Given the description of an element on the screen output the (x, y) to click on. 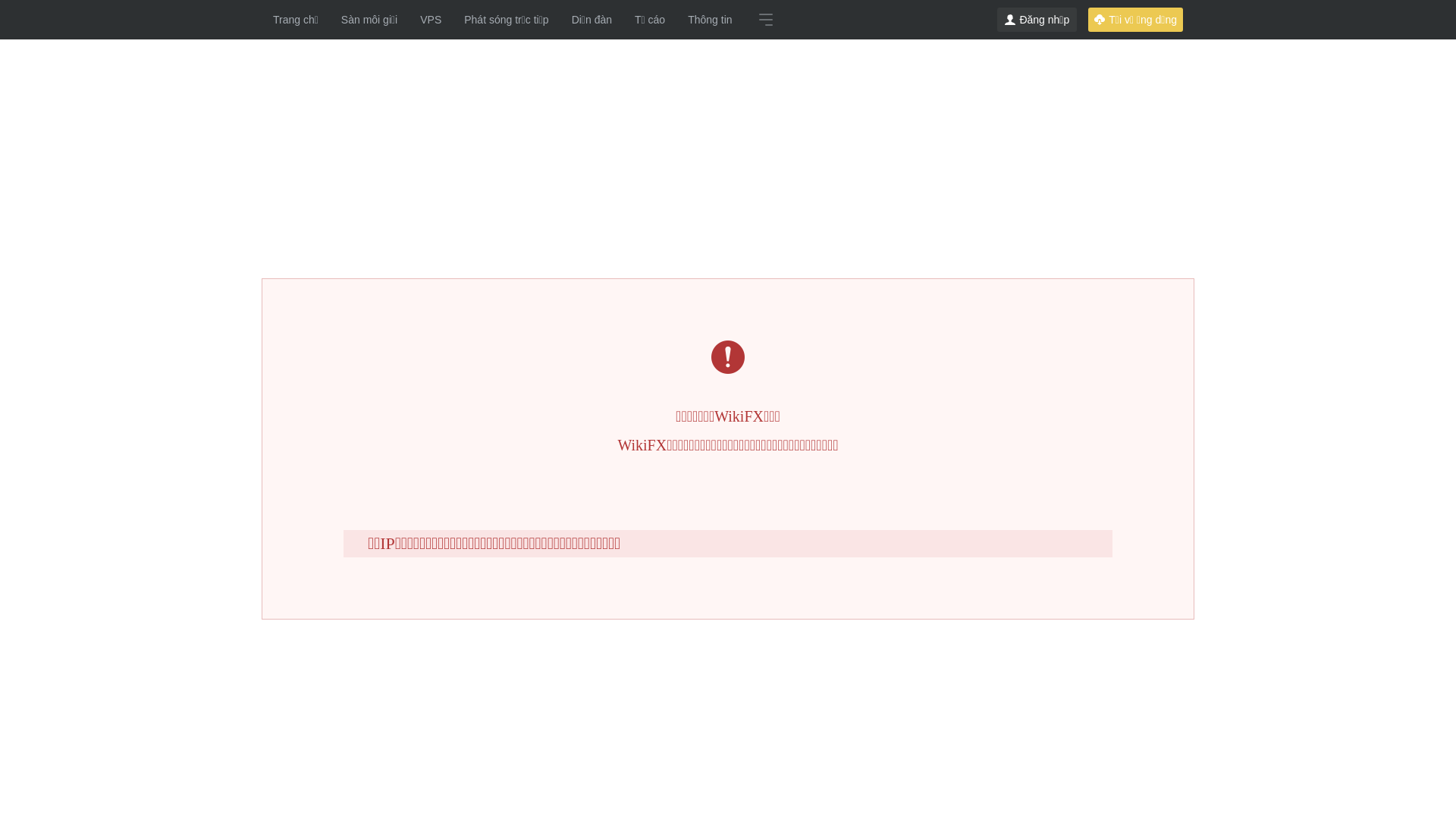
WikiFX(Enterprise Edition) Element type: text (798, 631)
WikiEXPO Element type: text (1040, 631)
VPS Element type: text (430, 19)
search Element type: text (694, 325)
WikiResearch Element type: text (1115, 631)
International Search Element type: text (371, 214)
